Given the description of an element on the screen output the (x, y) to click on. 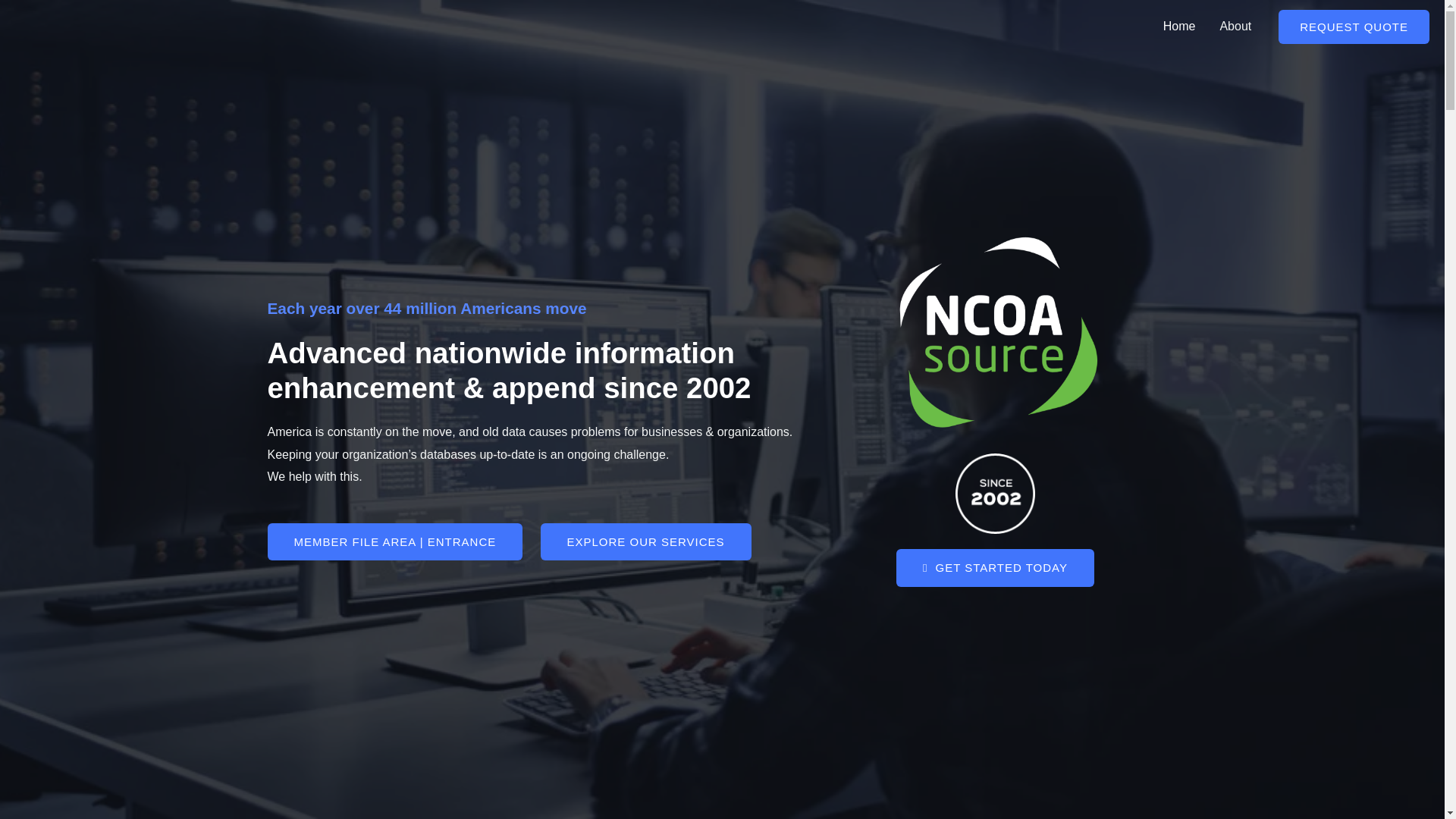
About (1235, 26)
GET STARTED TODAY (995, 567)
Home (1179, 26)
REQUEST QUOTE (1353, 26)
EXPLORE OUR SERVICES (645, 541)
